Given the description of an element on the screen output the (x, y) to click on. 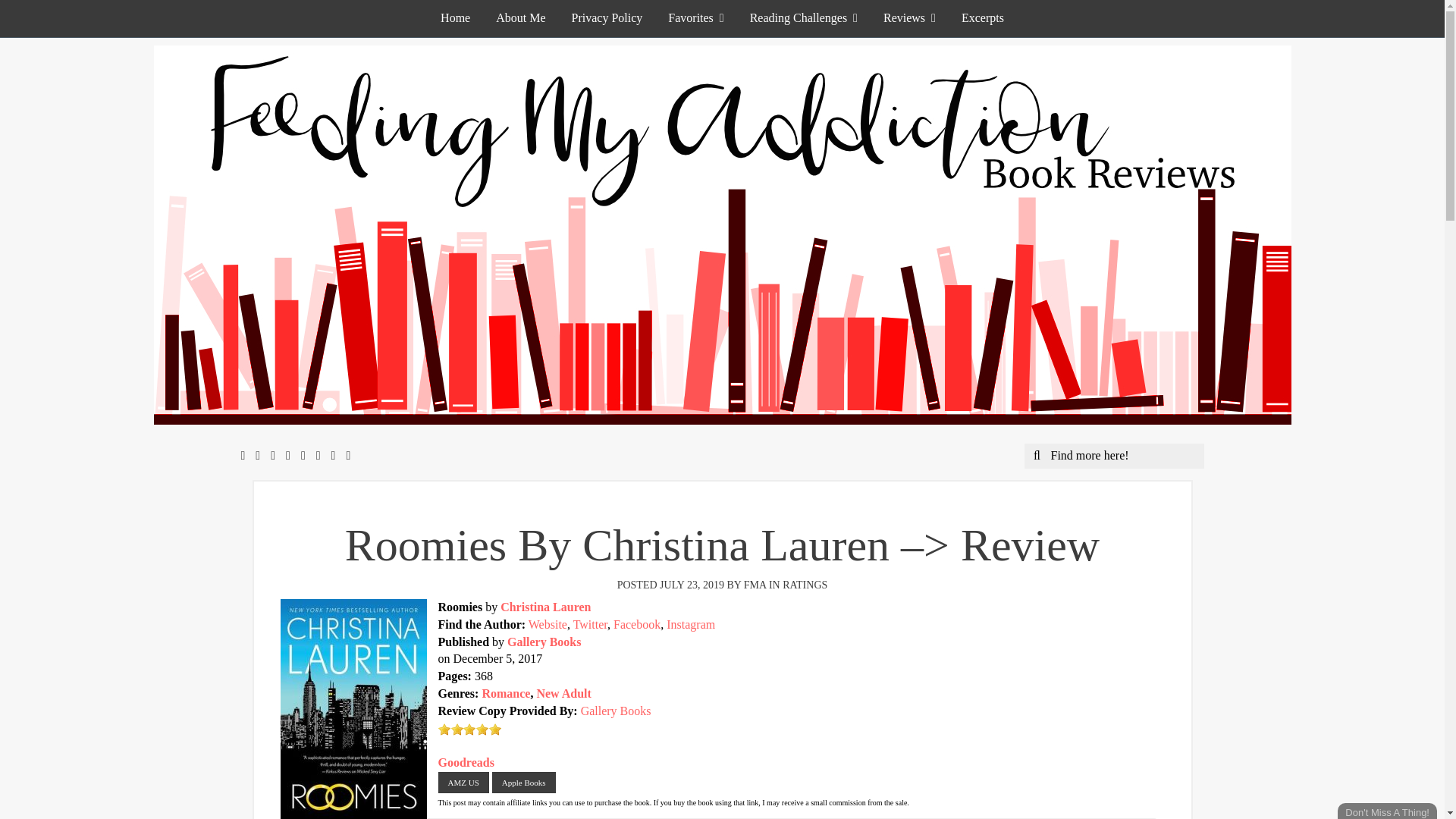
Reading Challenges   (803, 18)
Reviews   (909, 18)
View all posts in Ratings (805, 584)
Home (455, 18)
Favorites   (695, 18)
Excerpts (982, 18)
About Me (520, 18)
FMA (755, 584)
Privacy Policy (606, 18)
RATINGS (805, 584)
